Given the description of an element on the screen output the (x, y) to click on. 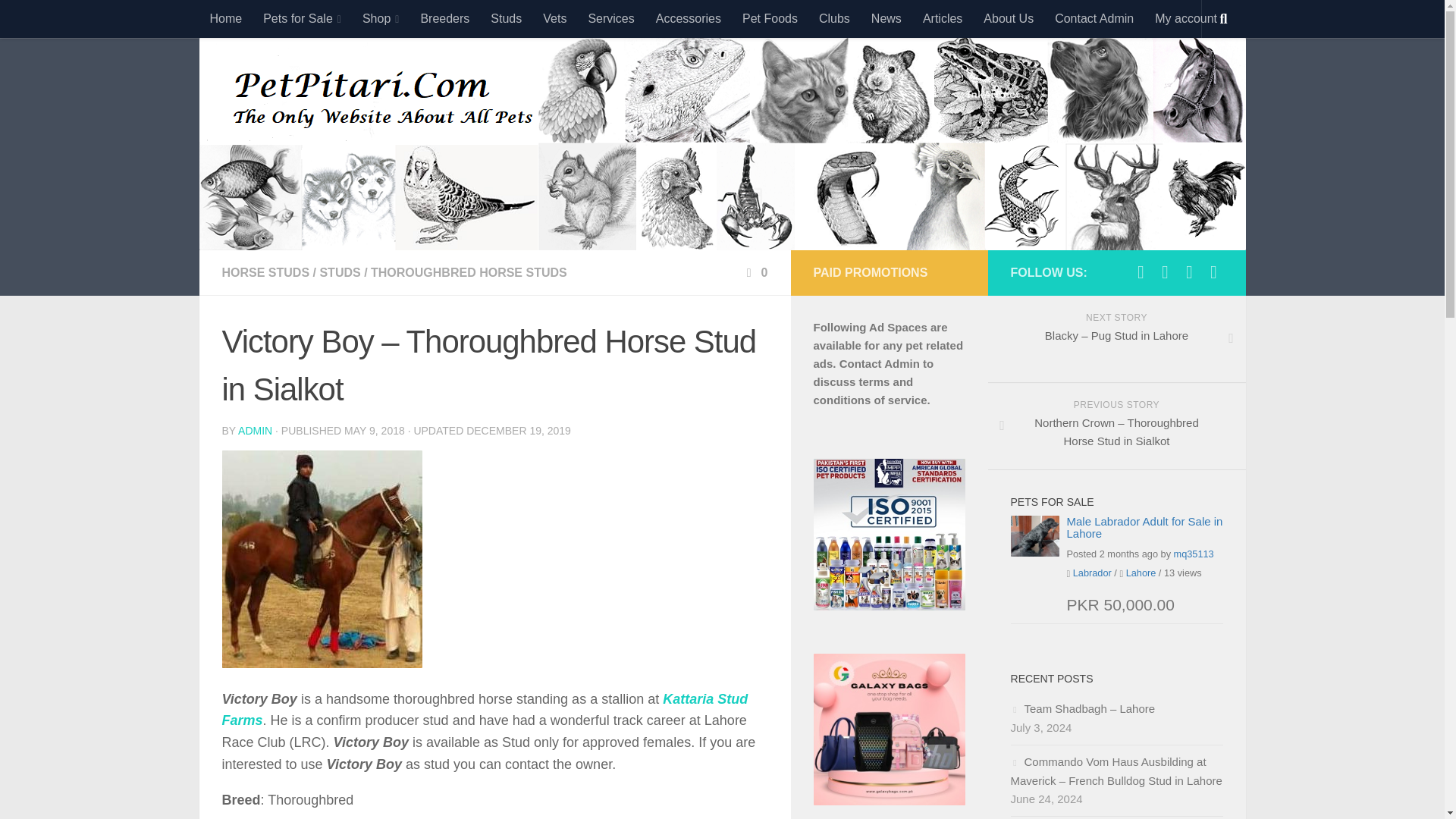
Vets (554, 18)
Services (610, 18)
Follow us on Facebook (1140, 271)
Shop (381, 18)
Follow us on Twitter (1164, 271)
News (886, 18)
Accessories (688, 18)
Posts by Admin (255, 430)
Pets for Sale (301, 18)
Home (224, 18)
Studs (506, 18)
Pet Foods (770, 18)
Breeders (444, 18)
Clubs (834, 18)
Articles (942, 18)
